Given the description of an element on the screen output the (x, y) to click on. 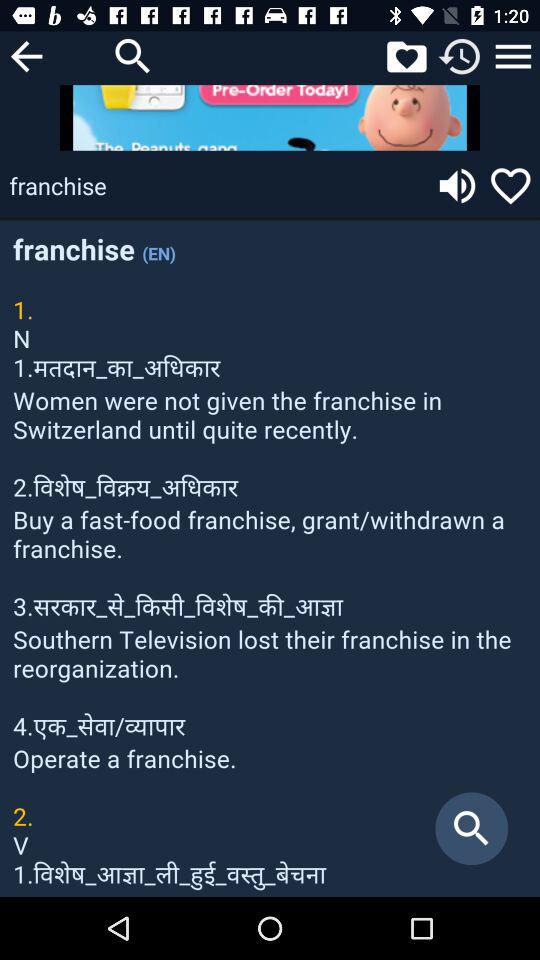
go to reload (460, 56)
